Given the description of an element on the screen output the (x, y) to click on. 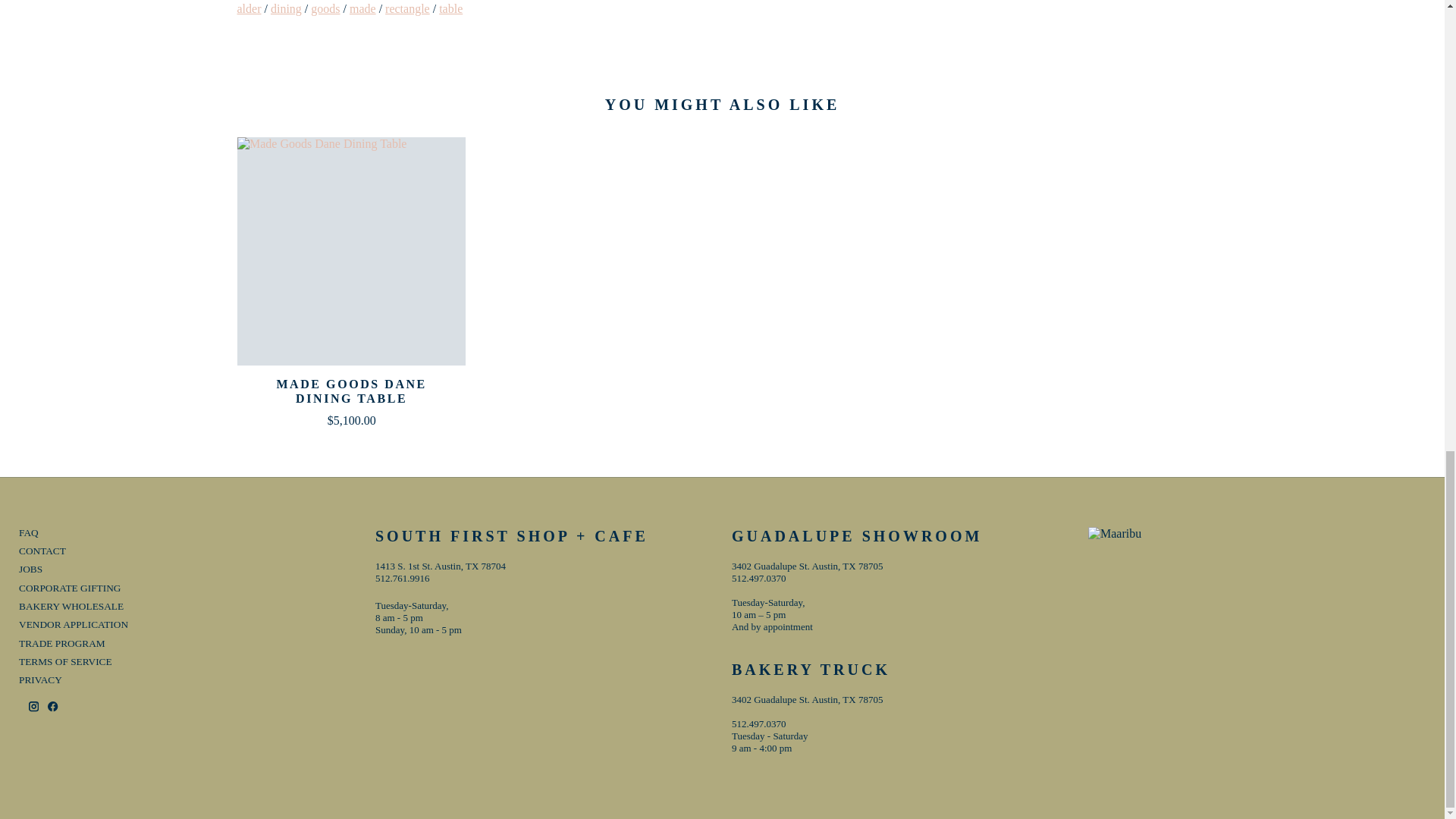
rectangle (407, 8)
Made Goods Dane Dining Table (349, 251)
made (362, 8)
goods (325, 8)
alder (247, 8)
table (451, 8)
dining (285, 8)
